Given the description of an element on the screen output the (x, y) to click on. 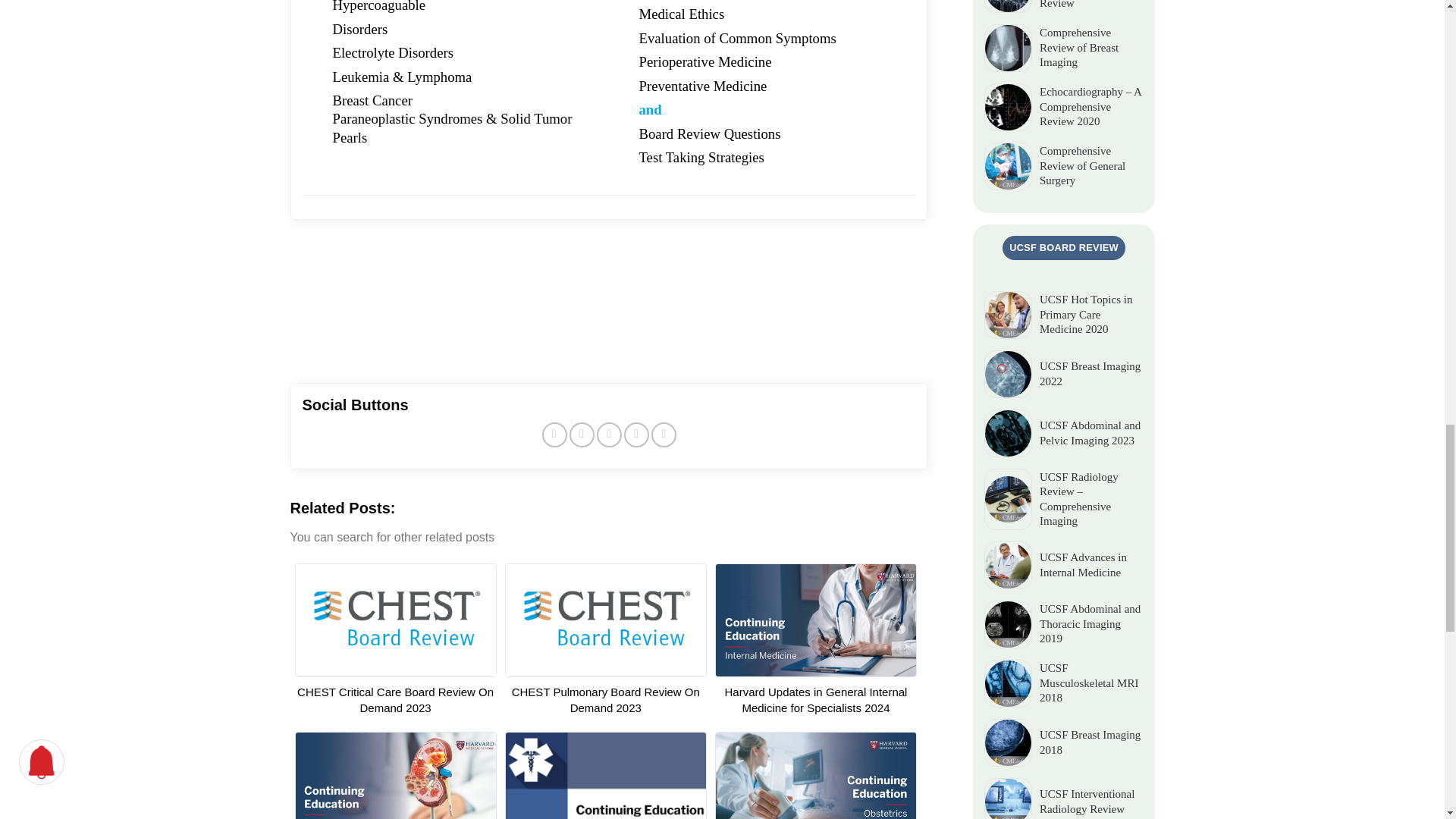
Advertisement (607, 306)
CHEST Pulmonary Board Review On Demand 2023 (606, 699)
Pin on Pinterest (636, 434)
Share on LinkedIn (663, 434)
Share on Facebook (554, 434)
Email to a Friend (608, 434)
CHEST Critical Care Board Review On Demand 2023 (395, 699)
Share on Twitter (581, 434)
